Given the description of an element on the screen output the (x, y) to click on. 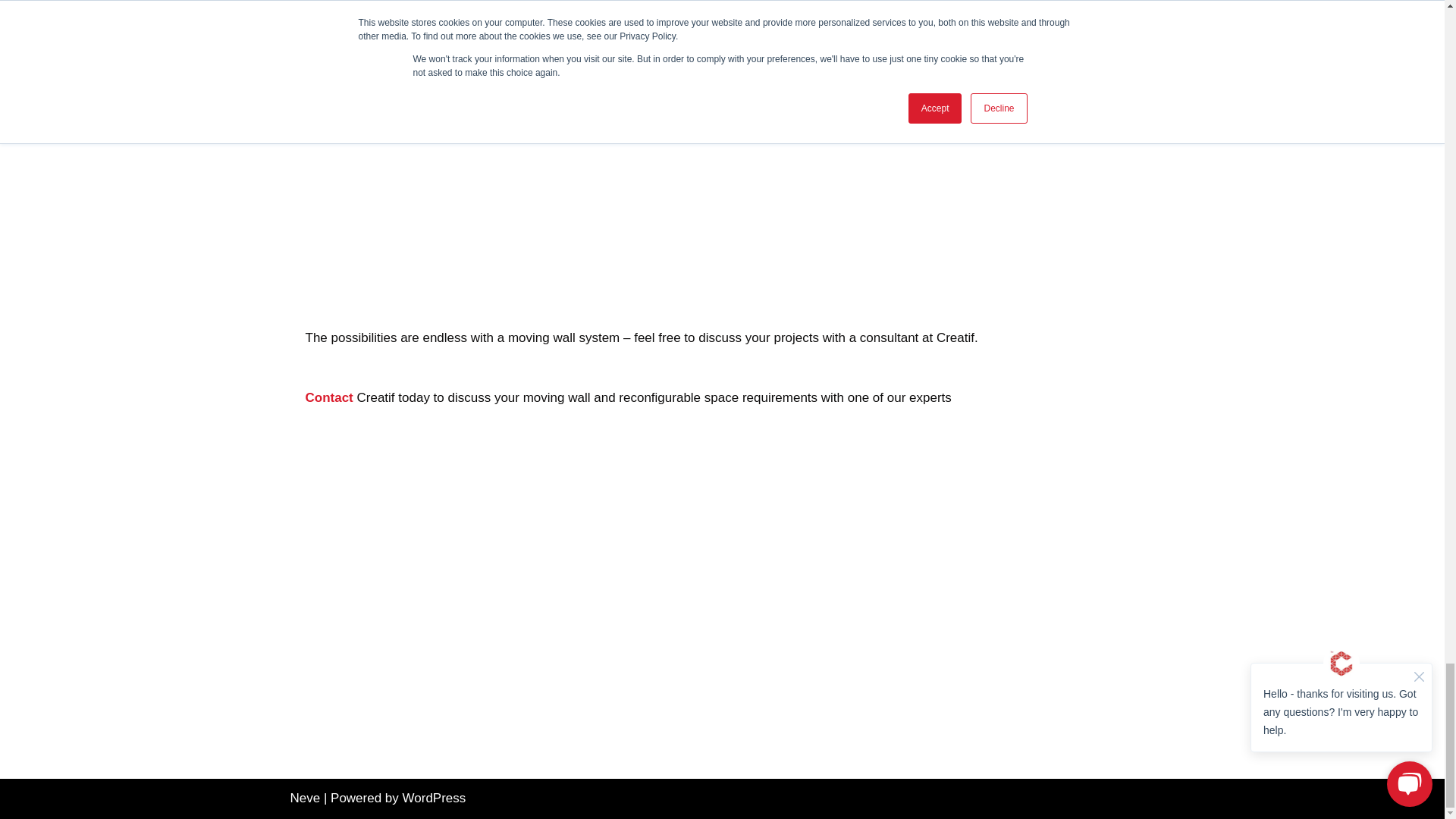
WordPress (434, 798)
Neve (304, 798)
Contact (328, 397)
